Given the description of an element on the screen output the (x, y) to click on. 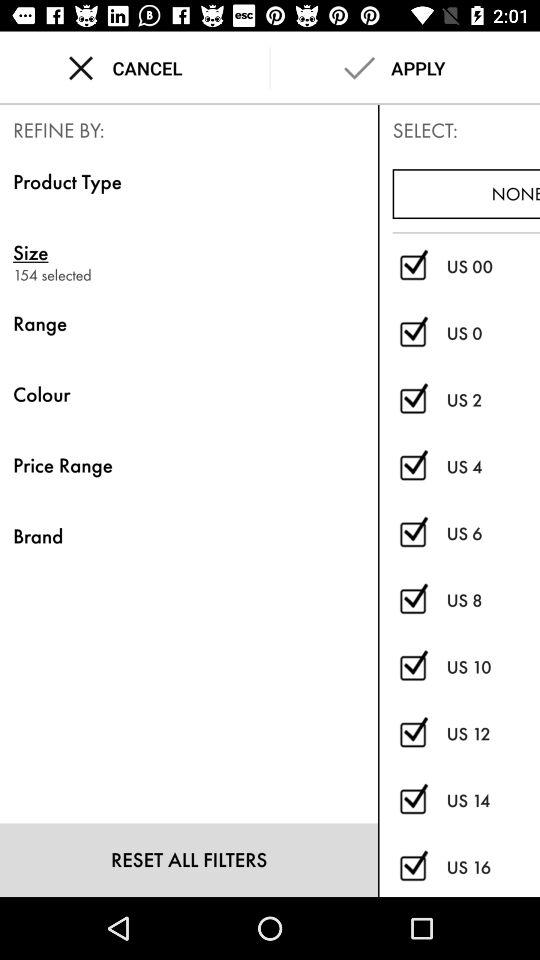
toggle select/deselect size us 16 (412, 867)
